Given the description of an element on the screen output the (x, y) to click on. 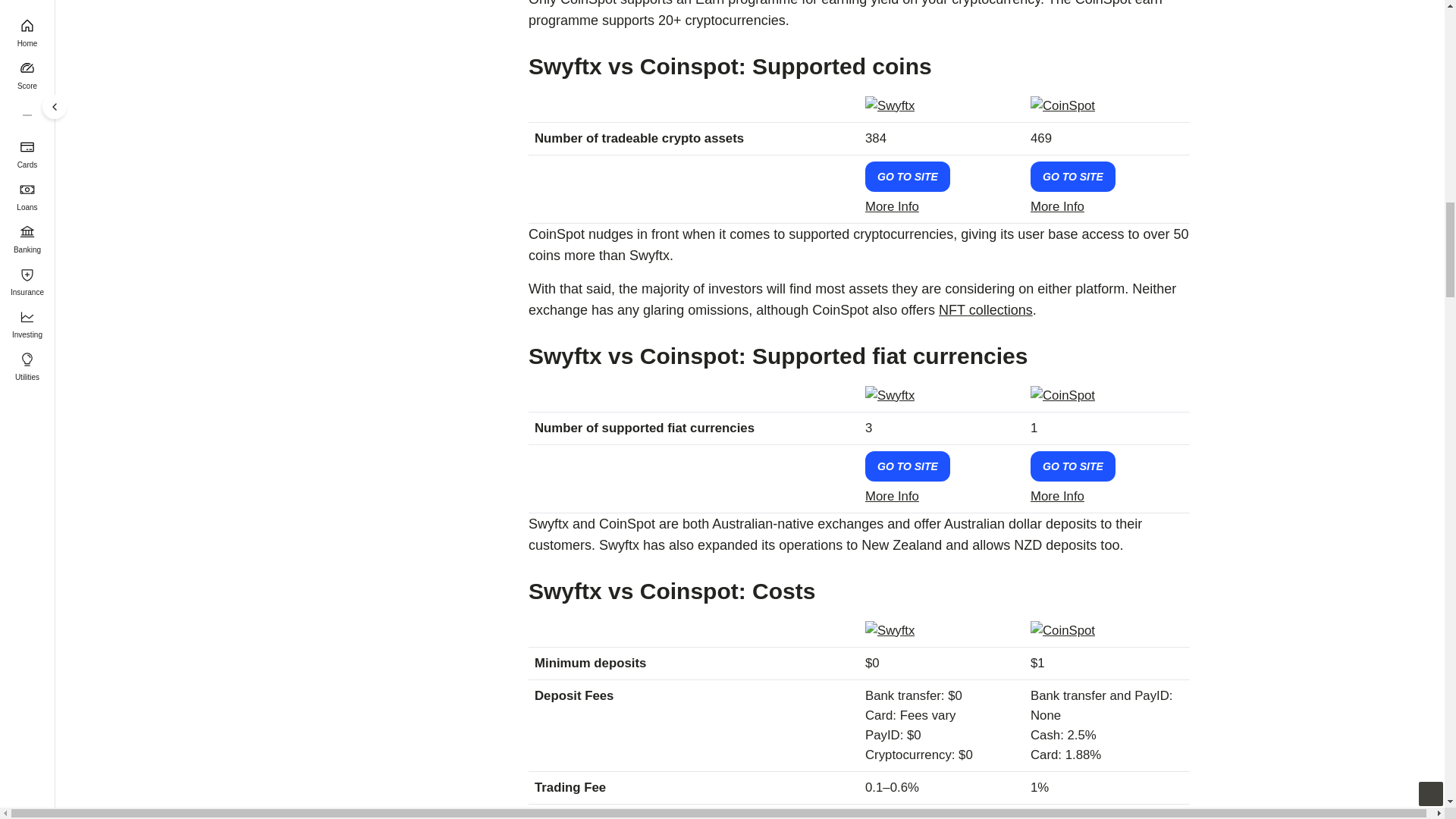
Apply Now For The CoinSpot (1072, 176)
Read More About The Swyftx (891, 495)
Read More About The Swyftx (891, 206)
Apply Now For The CoinSpot (1072, 466)
Read More About The CoinSpot (1057, 495)
Read More About The CoinSpot (1057, 206)
Apply Now For The Swyftx (907, 176)
Apply Now For The Swyftx (907, 466)
